Given the description of an element on the screen output the (x, y) to click on. 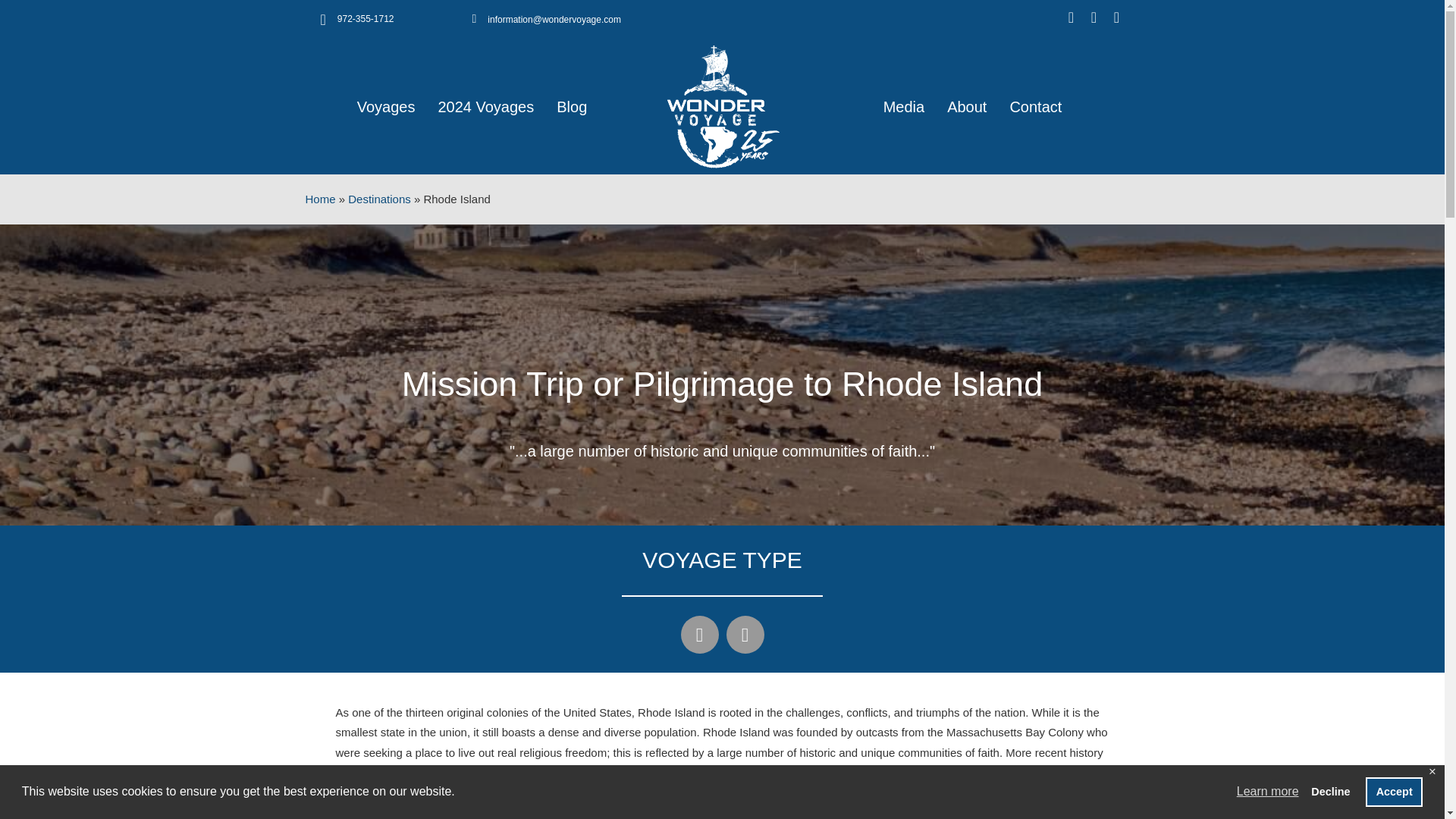
972-355-1712 (365, 18)
Learn more (1267, 791)
2024 Voyages (485, 106)
Voyages (386, 106)
Wonder Voyage - Celebrating 25 Years of Wonder (721, 106)
Blog (571, 106)
About (966, 106)
Decline (1330, 791)
Media (903, 106)
Accept (1393, 791)
